Given the description of an element on the screen output the (x, y) to click on. 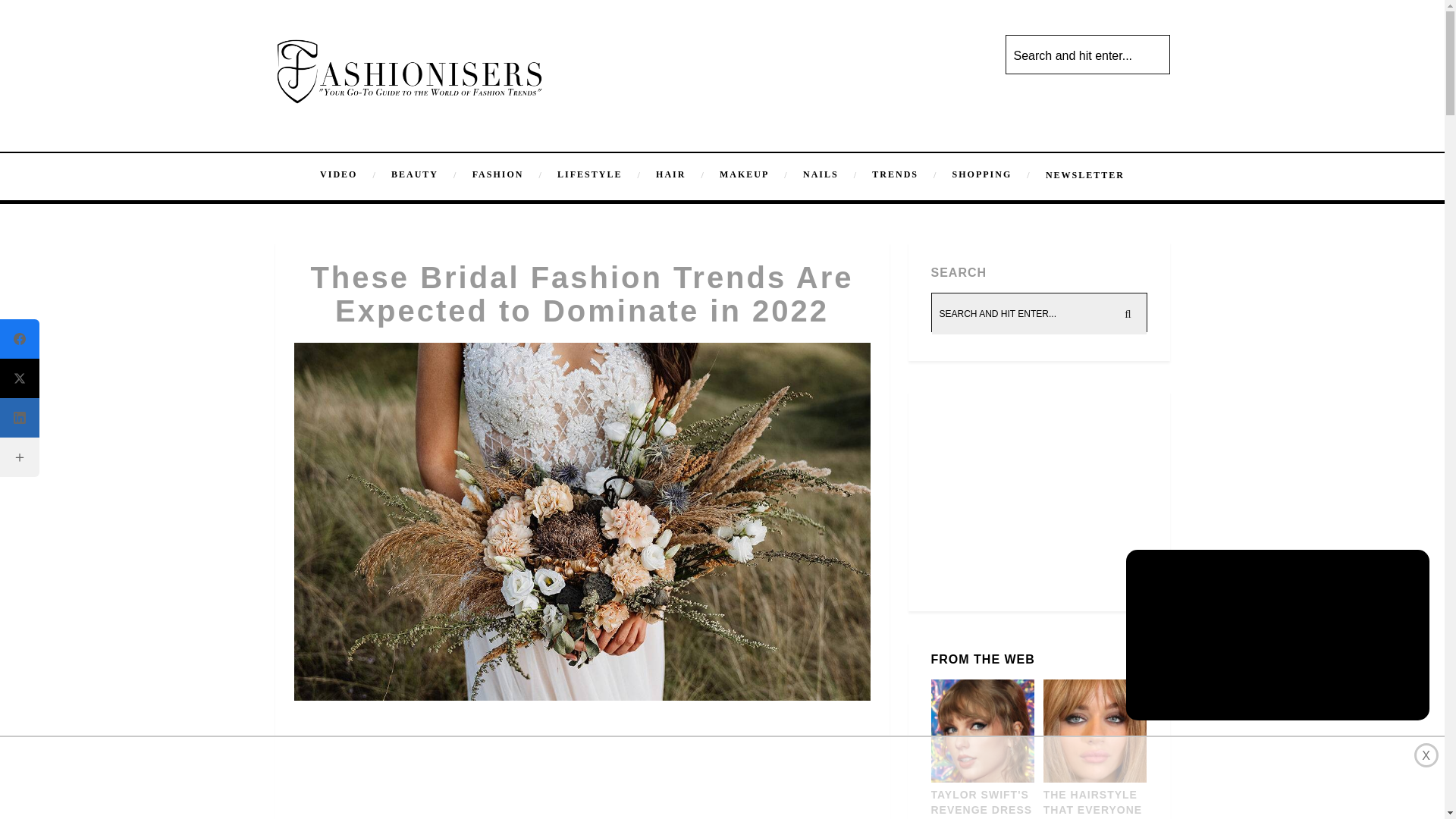
3rd party ad content (582, 753)
3rd party ad content (721, 777)
3rd party ad content (582, 806)
Search and hit enter... (1039, 313)
Search and hit enter... (1089, 56)
